Given the description of an element on the screen output the (x, y) to click on. 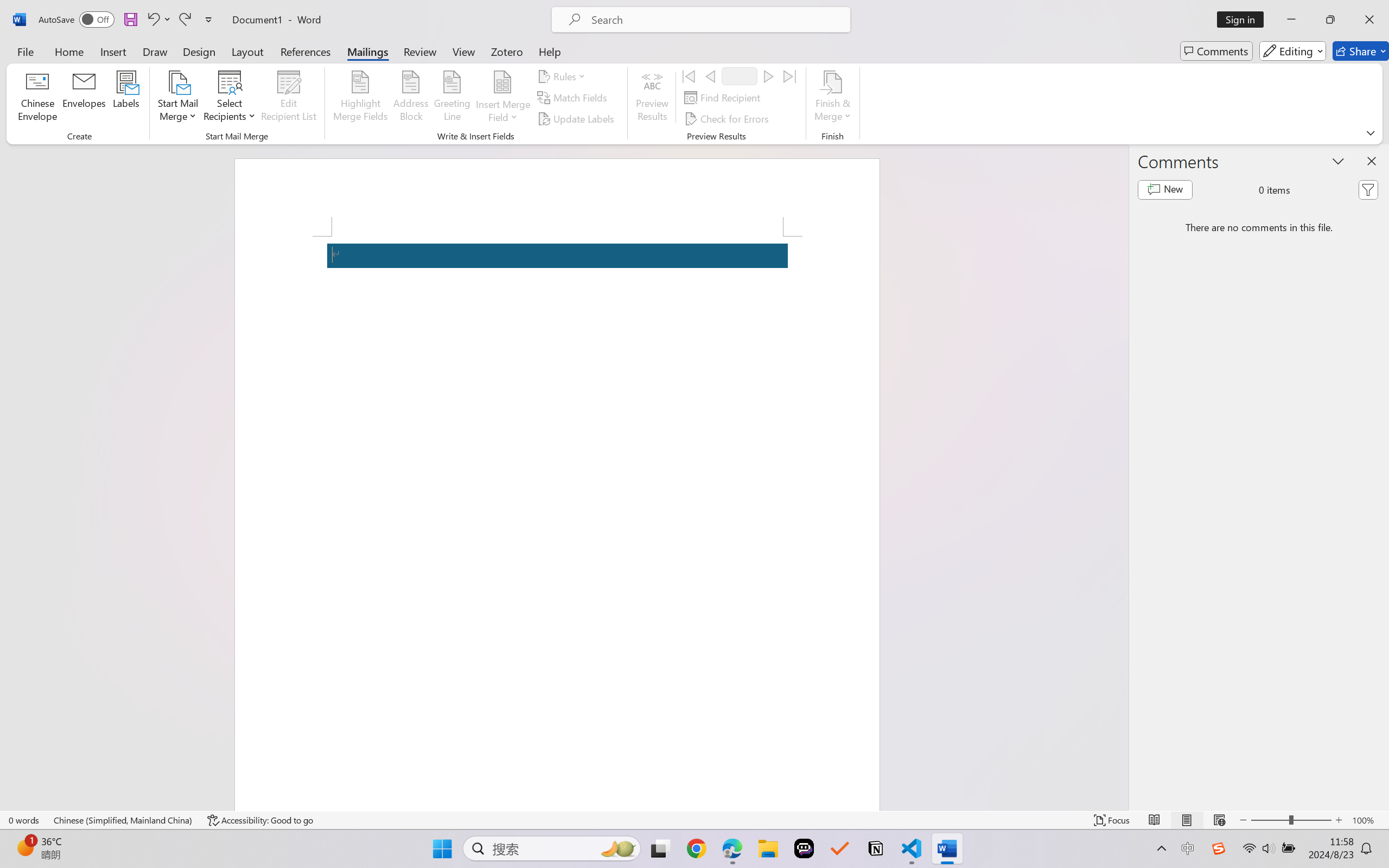
Highlight Merge Fields (360, 97)
Greeting Line... (451, 97)
Find Recipient... (723, 97)
Check for Errors... (728, 118)
Filter (1367, 189)
Record (739, 76)
Rules (563, 75)
